Given the description of an element on the screen output the (x, y) to click on. 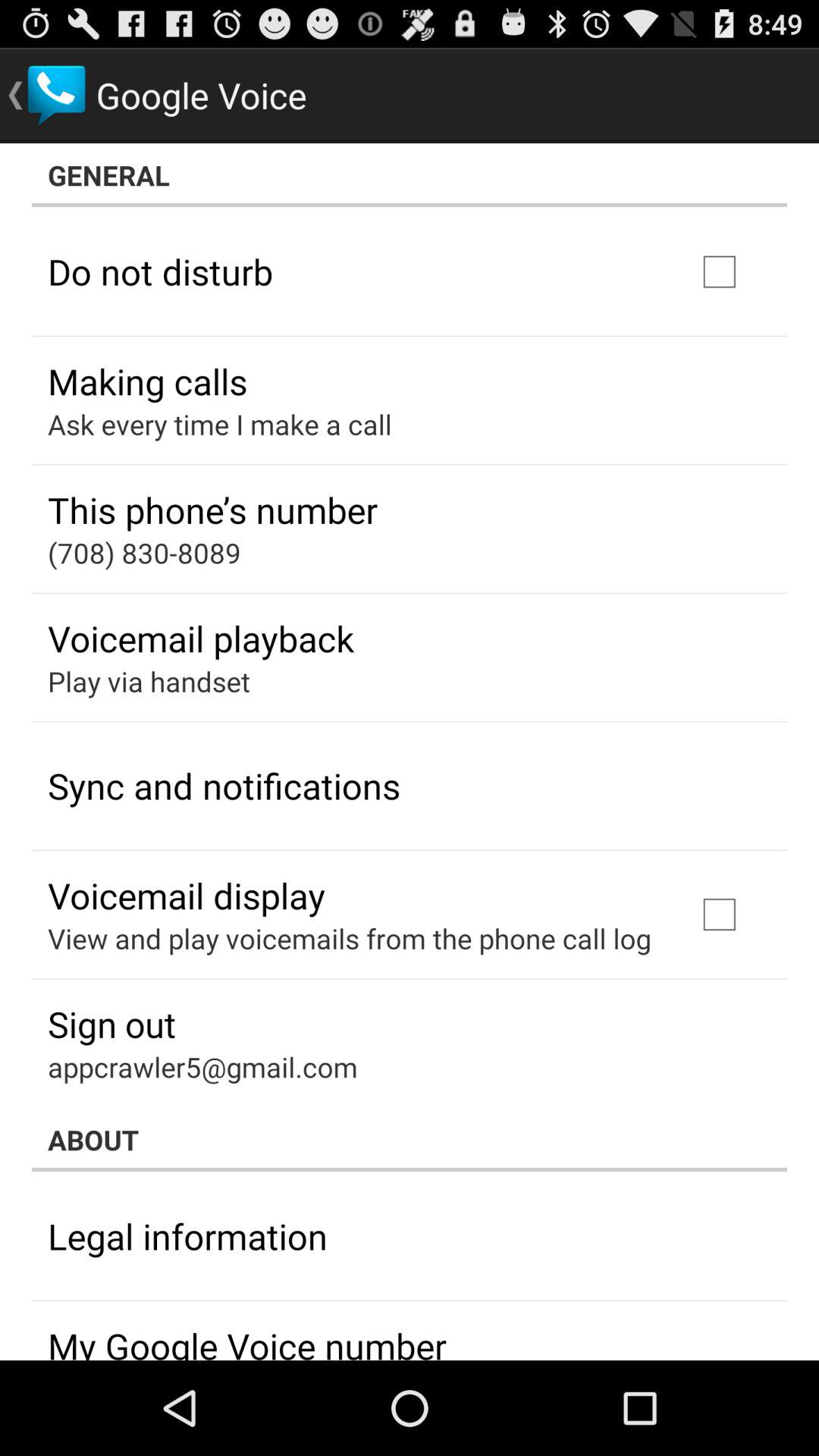
swipe until ask every time app (219, 424)
